Given the description of an element on the screen output the (x, y) to click on. 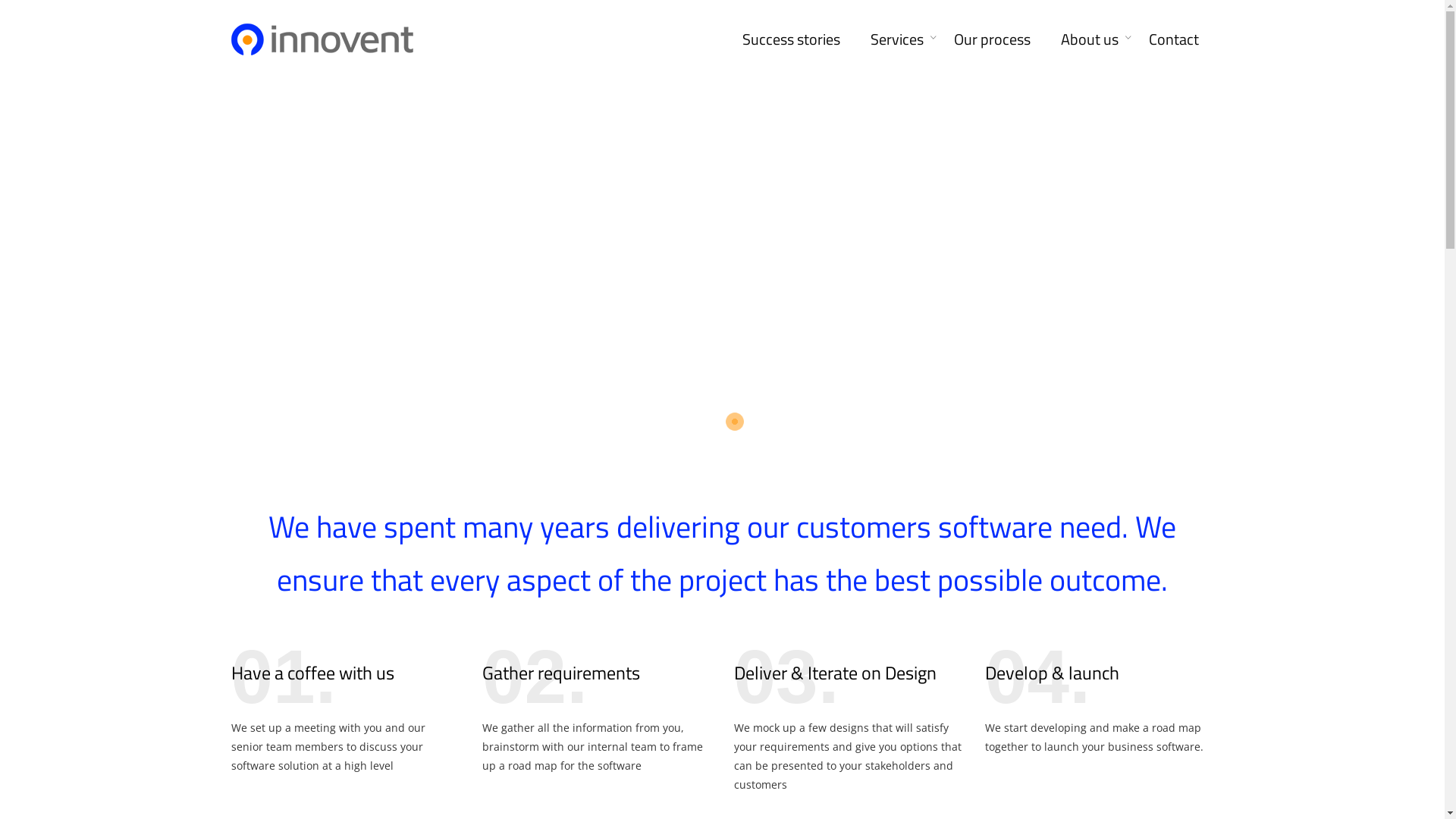
Success stories Element type: text (790, 37)
Contact Element type: text (1172, 37)
About us Element type: text (1088, 37)
Services Element type: text (896, 37)
Our process Element type: text (991, 37)
